Given the description of an element on the screen output the (x, y) to click on. 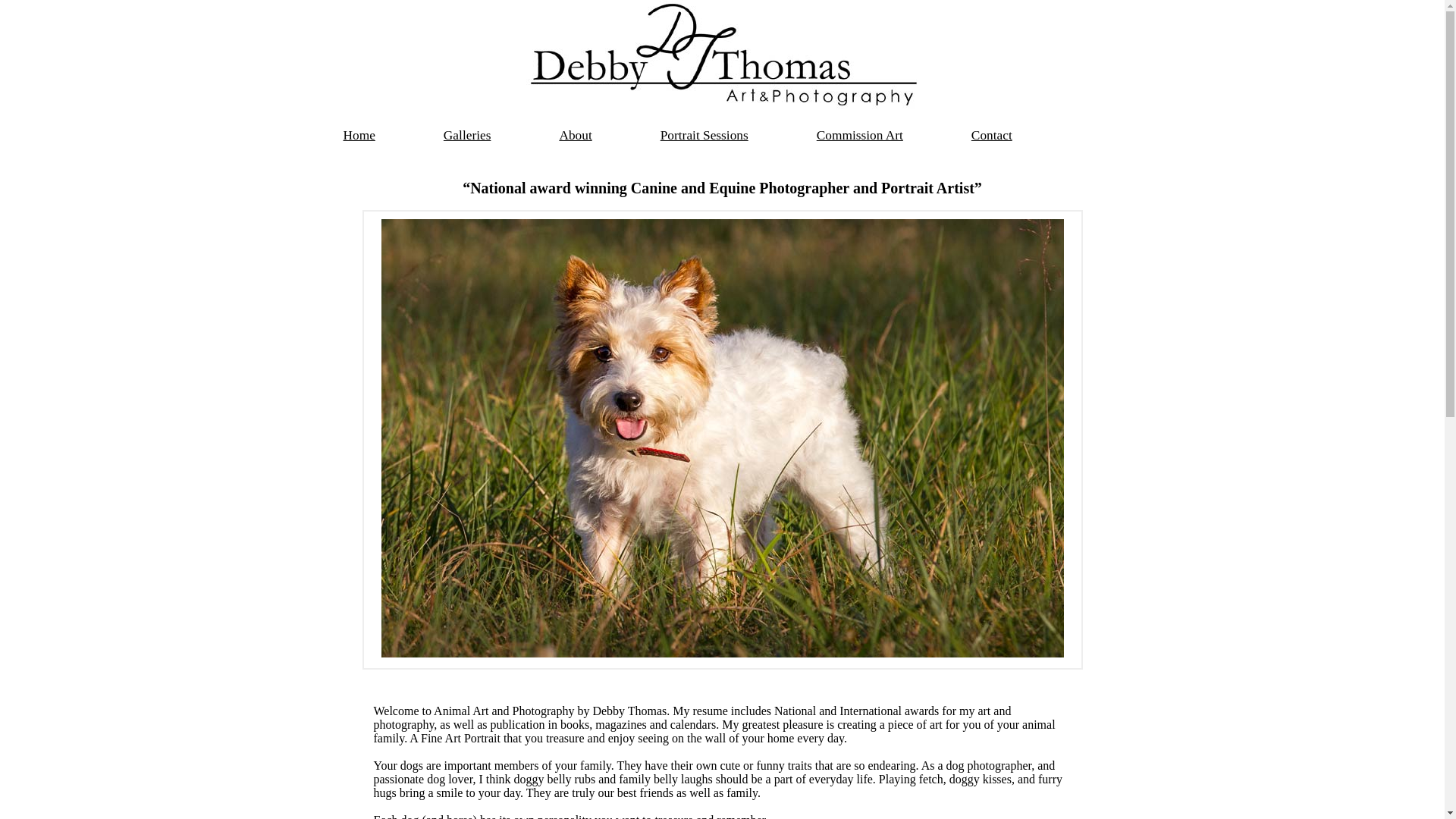
Contact (992, 135)
About (574, 135)
Home (358, 135)
Portrait Sessions (704, 135)
Galleries (467, 135)
Commission Art (859, 135)
